Given the description of an element on the screen output the (x, y) to click on. 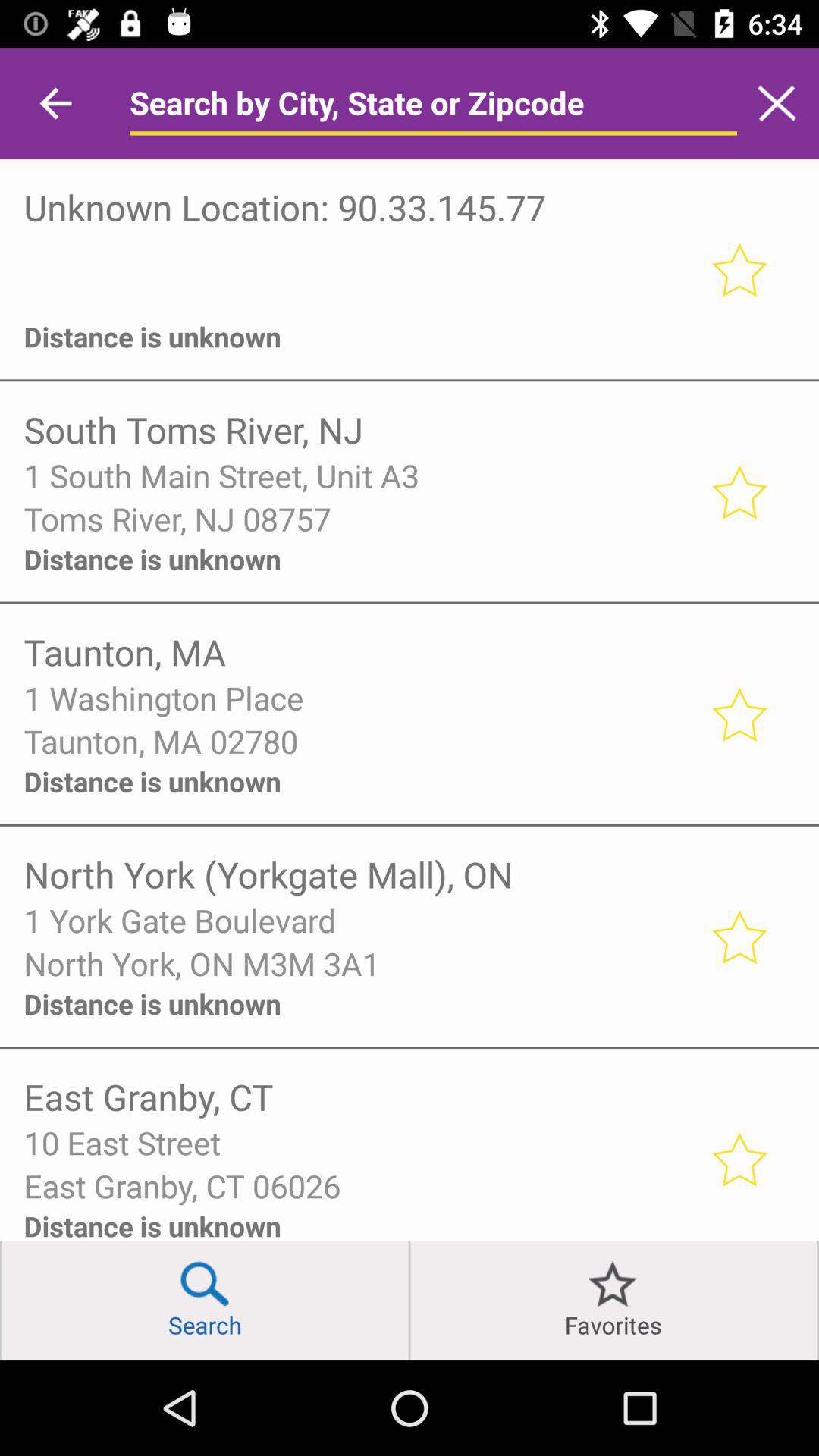
launch favorites (613, 1300)
